Given the description of an element on the screen output the (x, y) to click on. 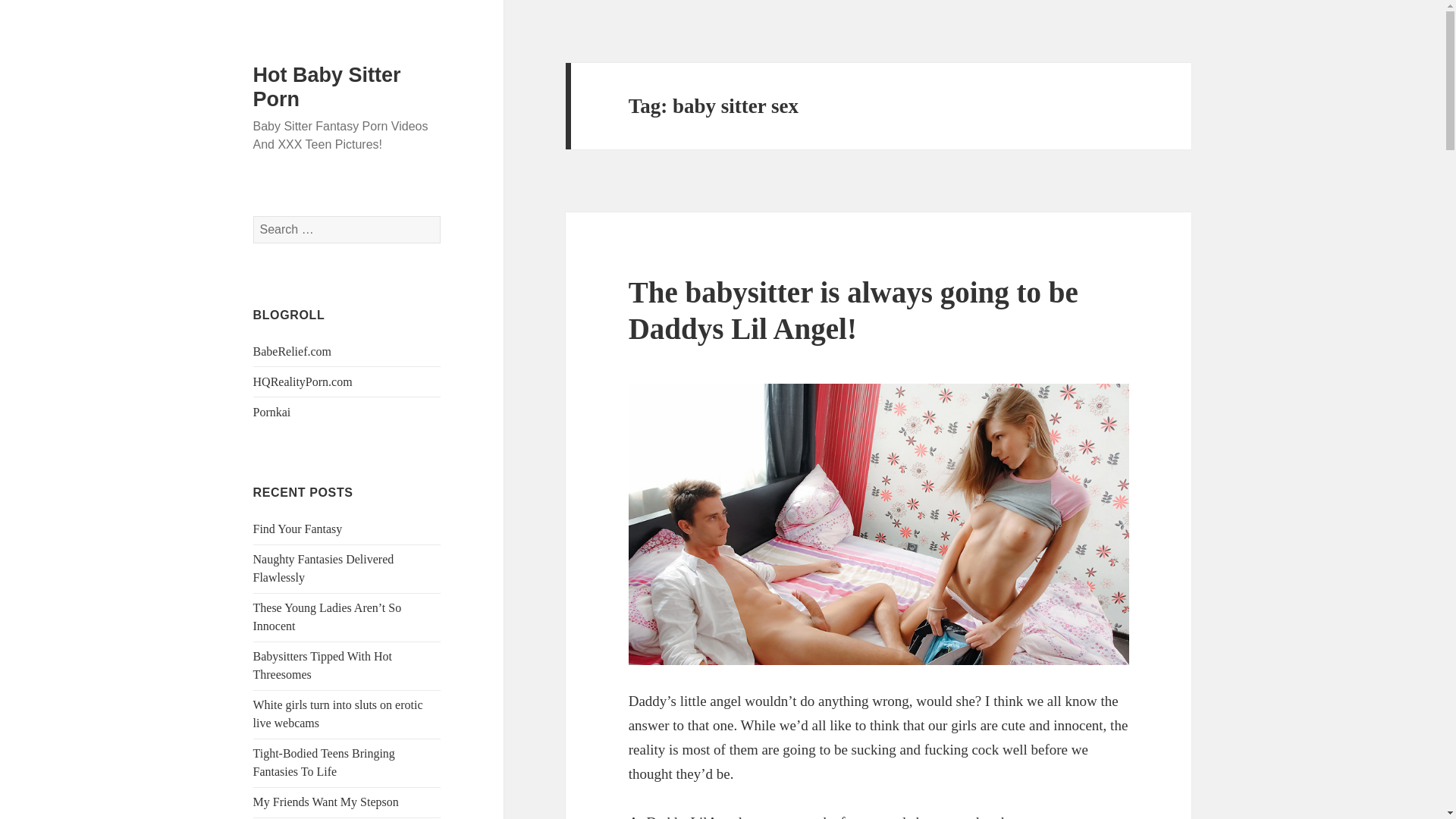
Hot Baby Sitter Porn (327, 86)
Tight-Bodied Teens Bringing Fantasies To Life (323, 762)
Pornkai (272, 411)
HQRealityPorn.com (302, 381)
Babysitters Tipped With Hot Threesomes (323, 665)
My Friends Want My Stepson (325, 801)
Naughty Fantasies Delivered Flawlessly (323, 567)
Find Your Fantasy (297, 528)
White girls turn into sluts on erotic live webcams (338, 713)
BabeRelief.com (292, 350)
